Given the description of an element on the screen output the (x, y) to click on. 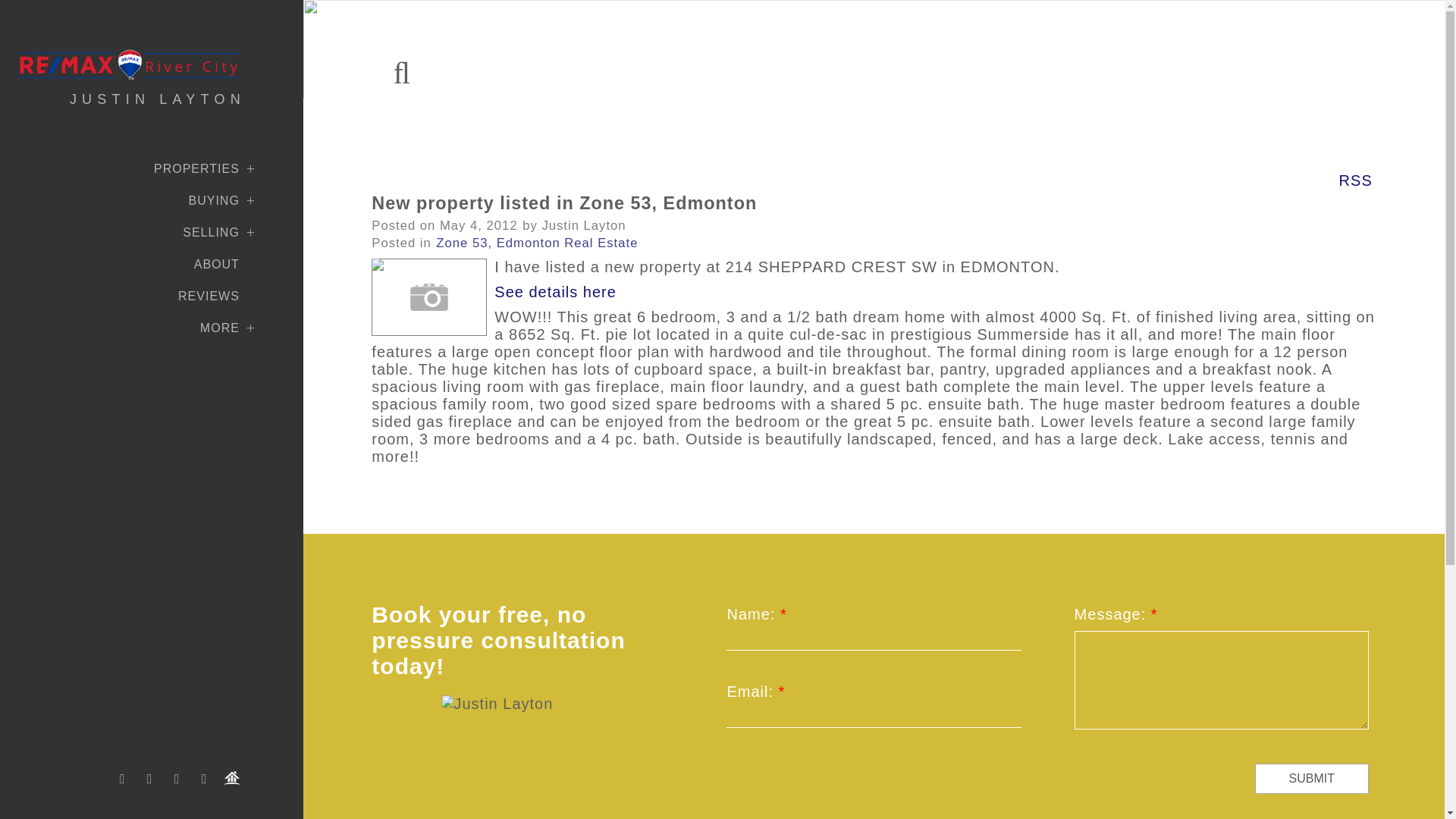
SUBMIT (1311, 778)
REVIEWS (120, 296)
See details here (555, 291)
ABOUT (120, 264)
MORE (120, 327)
Zone 53, Edmonton Real Estate (536, 242)
SELLING (120, 232)
RSS (1355, 178)
BUYING (120, 201)
PROPERTIES (120, 169)
